Given the description of an element on the screen output the (x, y) to click on. 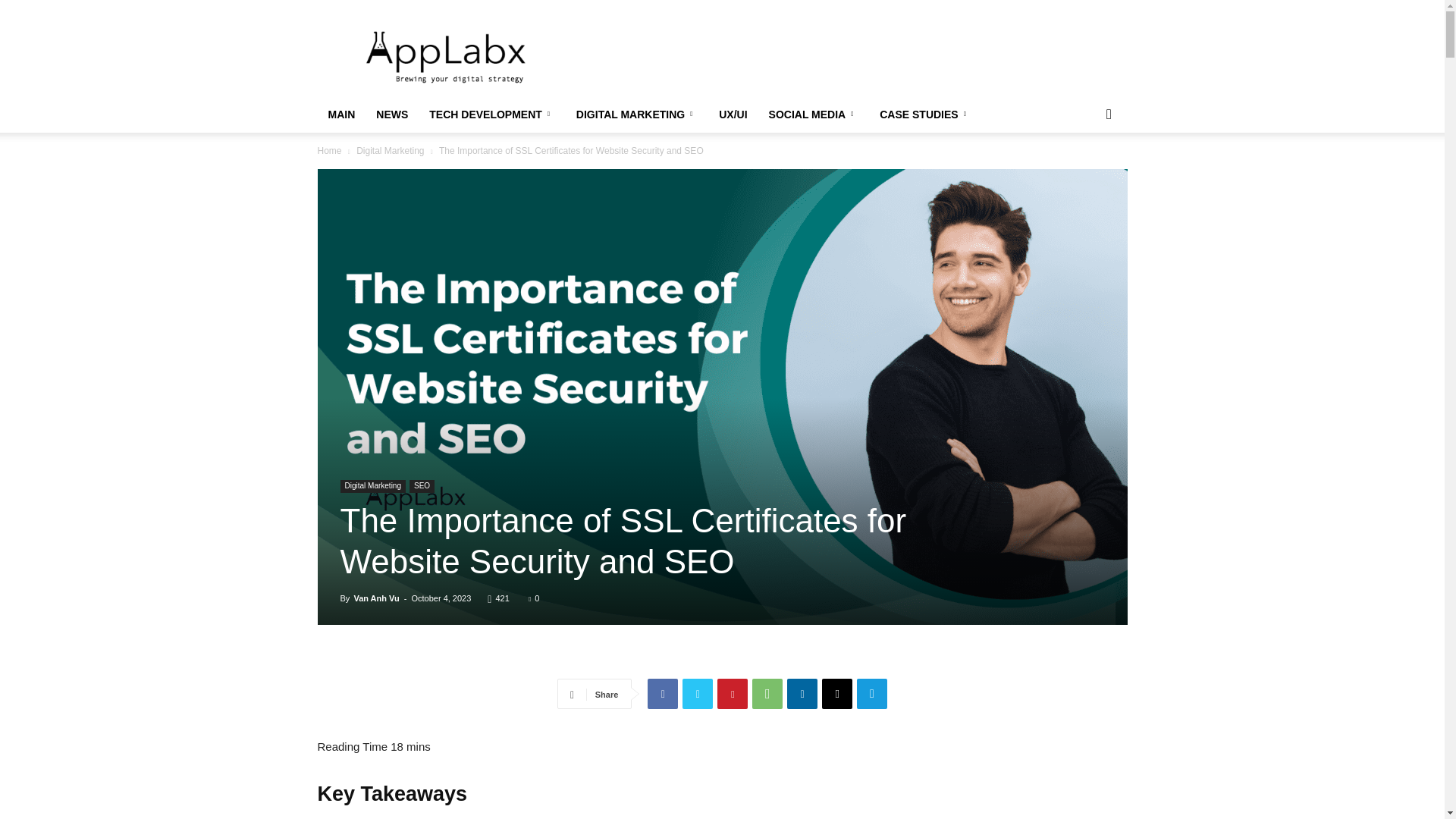
AppLabx - Digital Marketing and Web Agency (445, 55)
